Given the description of an element on the screen output the (x, y) to click on. 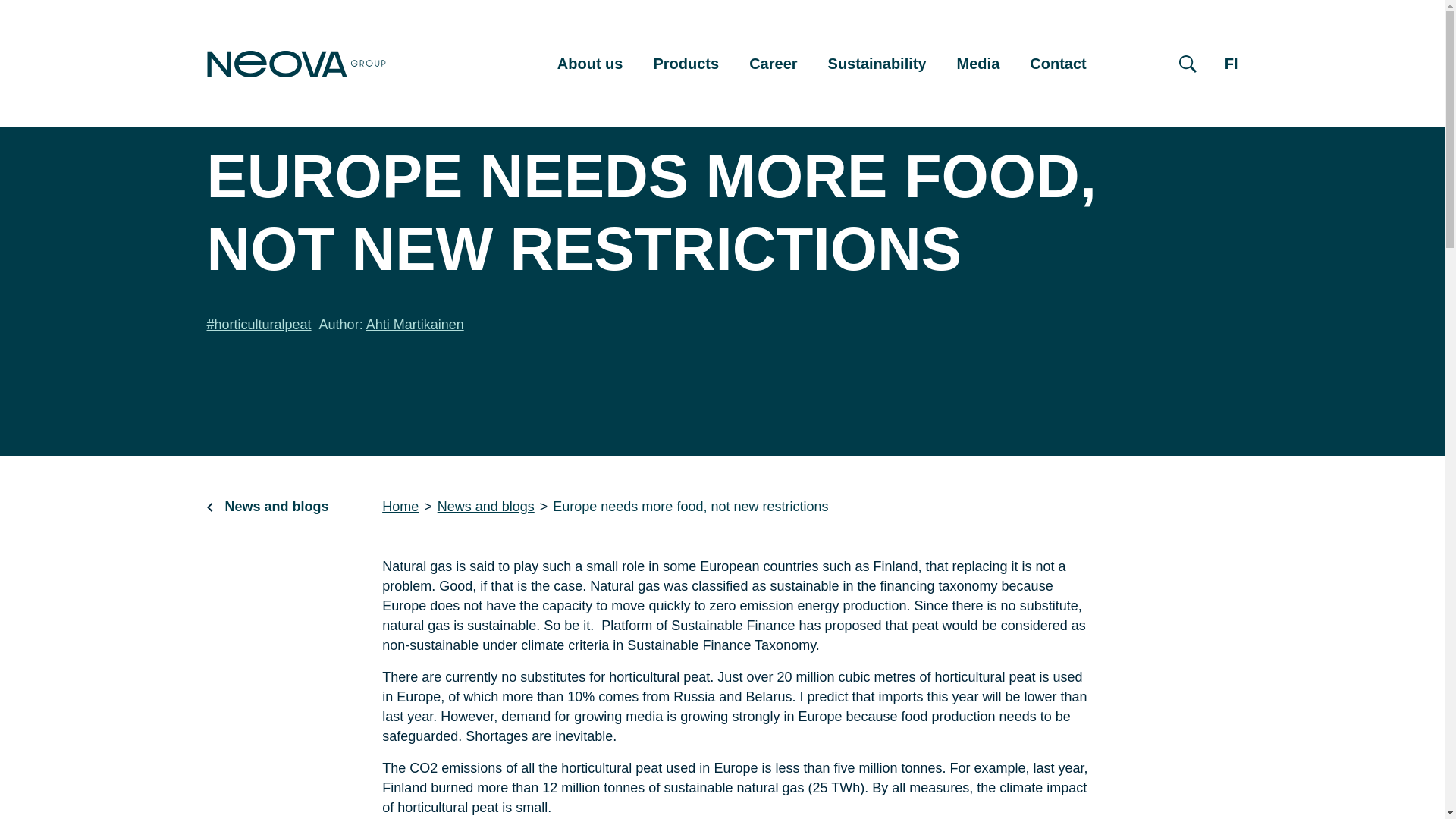
Products (685, 63)
About us (590, 63)
